Given the description of an element on the screen output the (x, y) to click on. 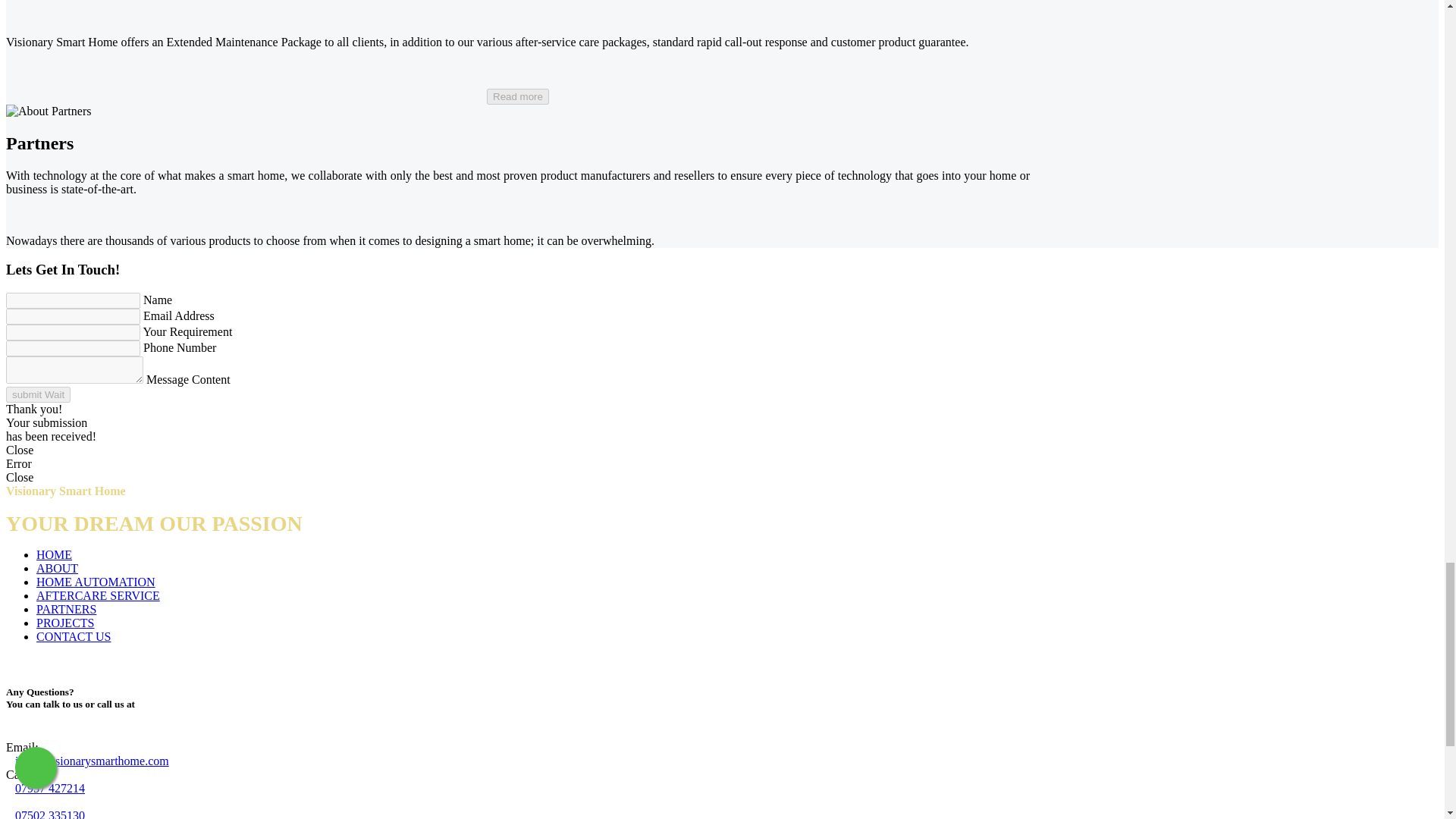
HOME AUTOMATION (95, 581)
Read more (517, 96)
Partners (517, 143)
submit Wait (37, 394)
HOME (53, 554)
CONTACT US (73, 635)
AFTERCARE SERVICE (98, 594)
PARTNERS (66, 608)
Read more (517, 96)
07502 335130 (49, 814)
PROJECTS (65, 622)
07957 427214 (49, 788)
ABOUT (57, 567)
